Given the description of an element on the screen output the (x, y) to click on. 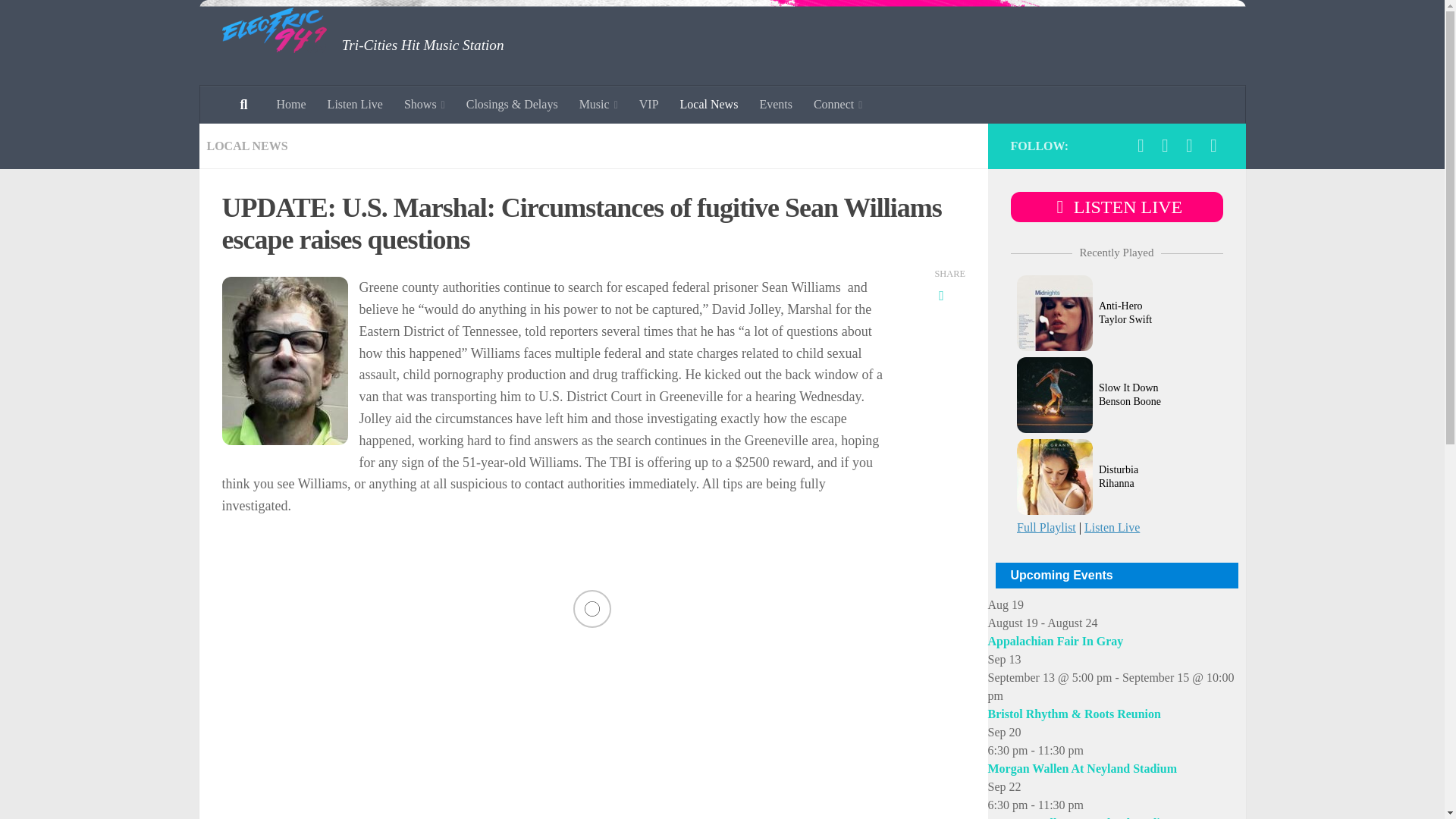
Morgan Wallen At Neyland Stadium (1081, 817)
Follow us on Facebook (1140, 145)
Follow us on Instagram (1164, 145)
Follow us on Snapchat (1188, 145)
Appalachian Fair In Gray (1054, 640)
Follow us on Email (1213, 145)
Listen Live (355, 104)
Home (289, 104)
Morgan Wallen At Neyland Stadium (1081, 768)
Shows (424, 104)
